Given the description of an element on the screen output the (x, y) to click on. 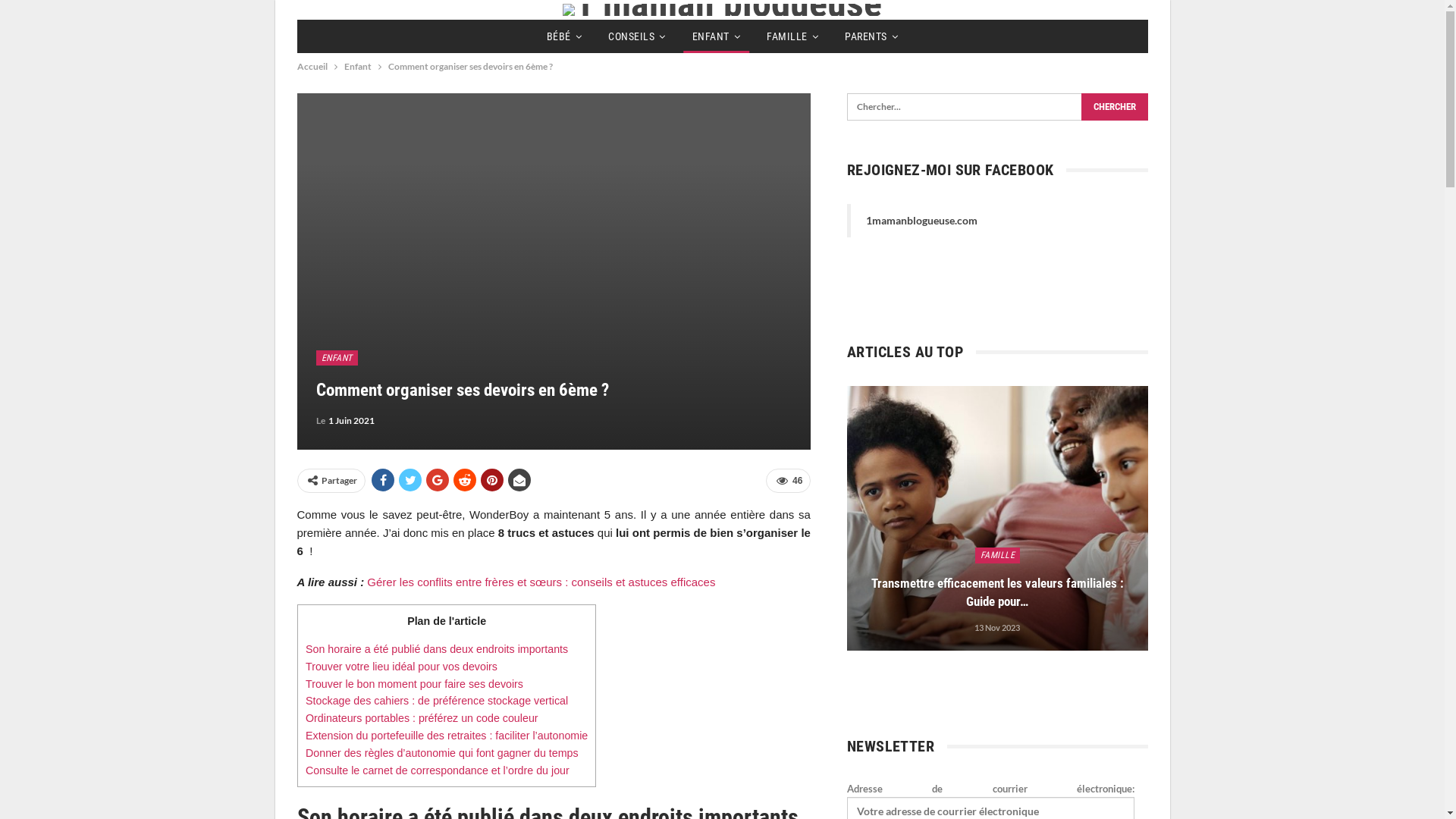
Enfant Element type: text (357, 66)
FAMILLE Element type: text (996, 554)
PARENTS Element type: text (870, 36)
FAMILLE Element type: text (792, 36)
Chercher Element type: text (1113, 106)
Rechercher: Element type: hover (997, 106)
1mamanblogueuse.com Element type: text (921, 219)
Accueil Element type: text (312, 66)
CONSEILS Element type: text (636, 36)
Trouver le bon moment pour faire ses devoirs Element type: text (413, 683)
ENFANT Element type: text (716, 36)
ENFANT Element type: text (336, 357)
